Given the description of an element on the screen output the (x, y) to click on. 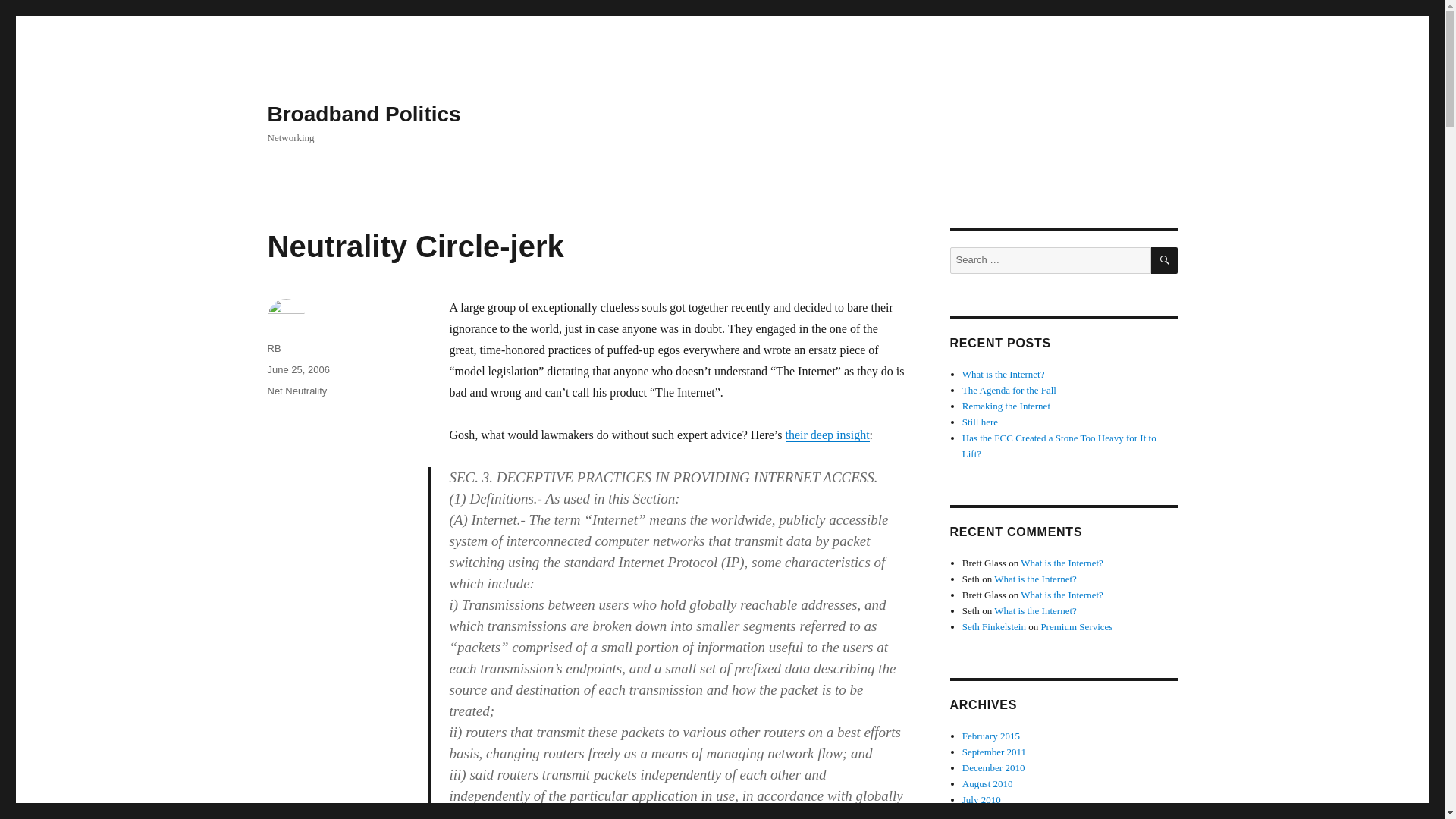
What is the Internet? (1035, 610)
Seth Finkelstein (994, 626)
Remaking the Internet (1005, 405)
June 25, 2006 (297, 369)
Premium Services (1076, 626)
What is the Internet? (1035, 578)
Broadband Politics (363, 114)
Has the FCC Created a Stone Too Heavy for It to Lift? (1059, 445)
August 2010 (987, 783)
Still here (979, 421)
